Given the description of an element on the screen output the (x, y) to click on. 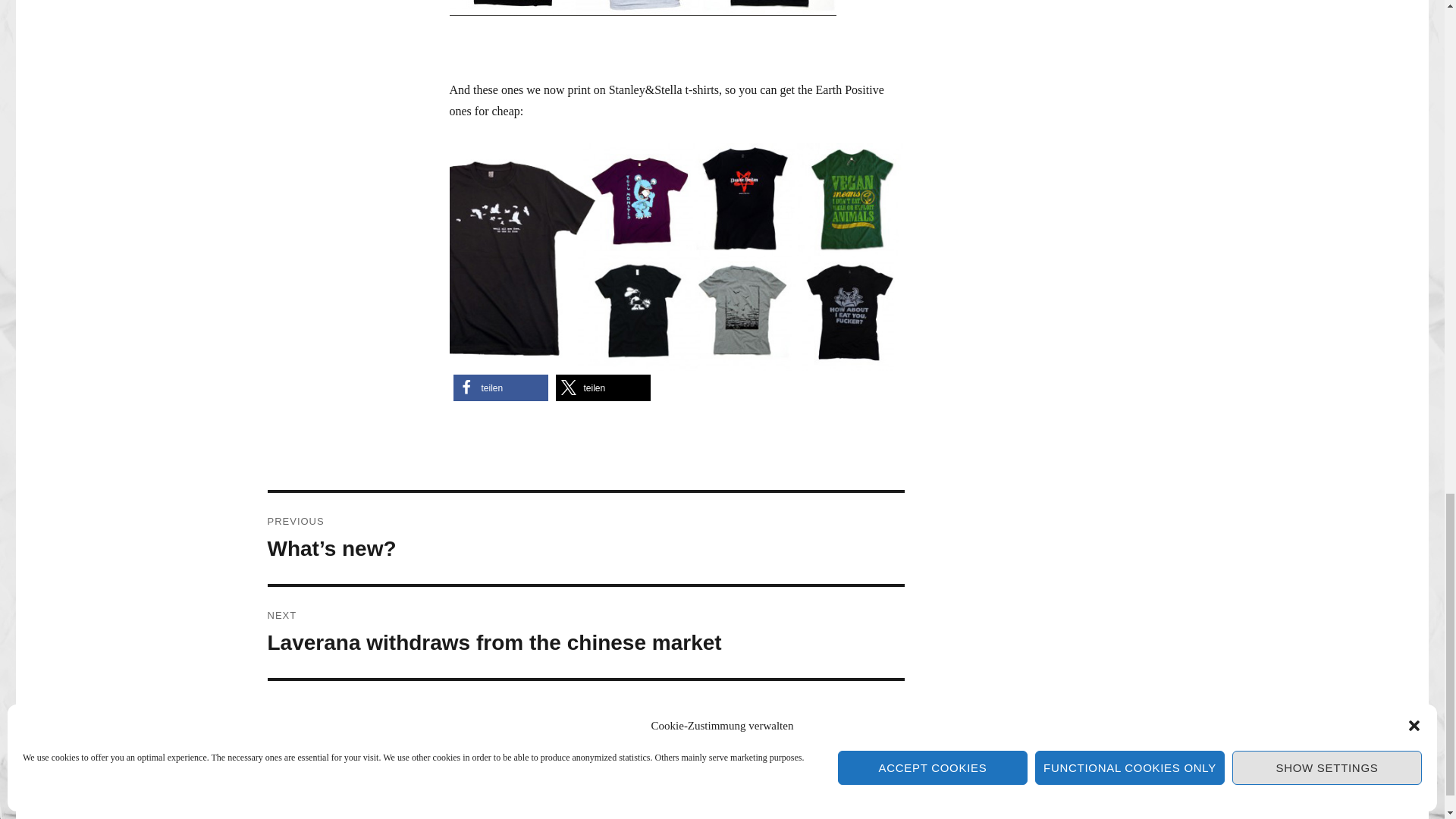
teilen  (500, 387)
Bei Facebook teilen (500, 387)
Bei X teilen (601, 387)
teilen  (585, 632)
